Given the description of an element on the screen output the (x, y) to click on. 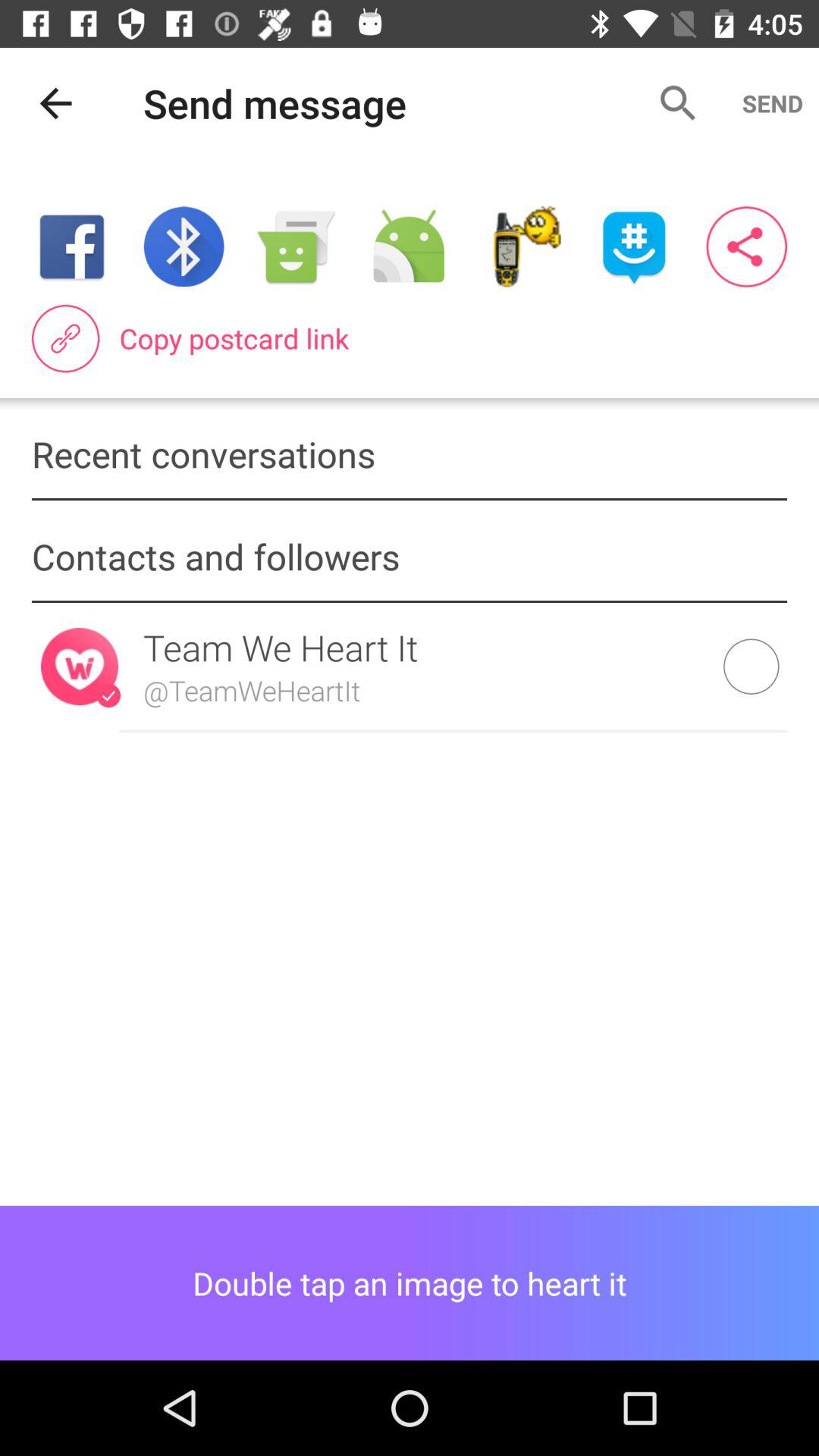
the bluetooth link (183, 246)
